Given the description of an element on the screen output the (x, y) to click on. 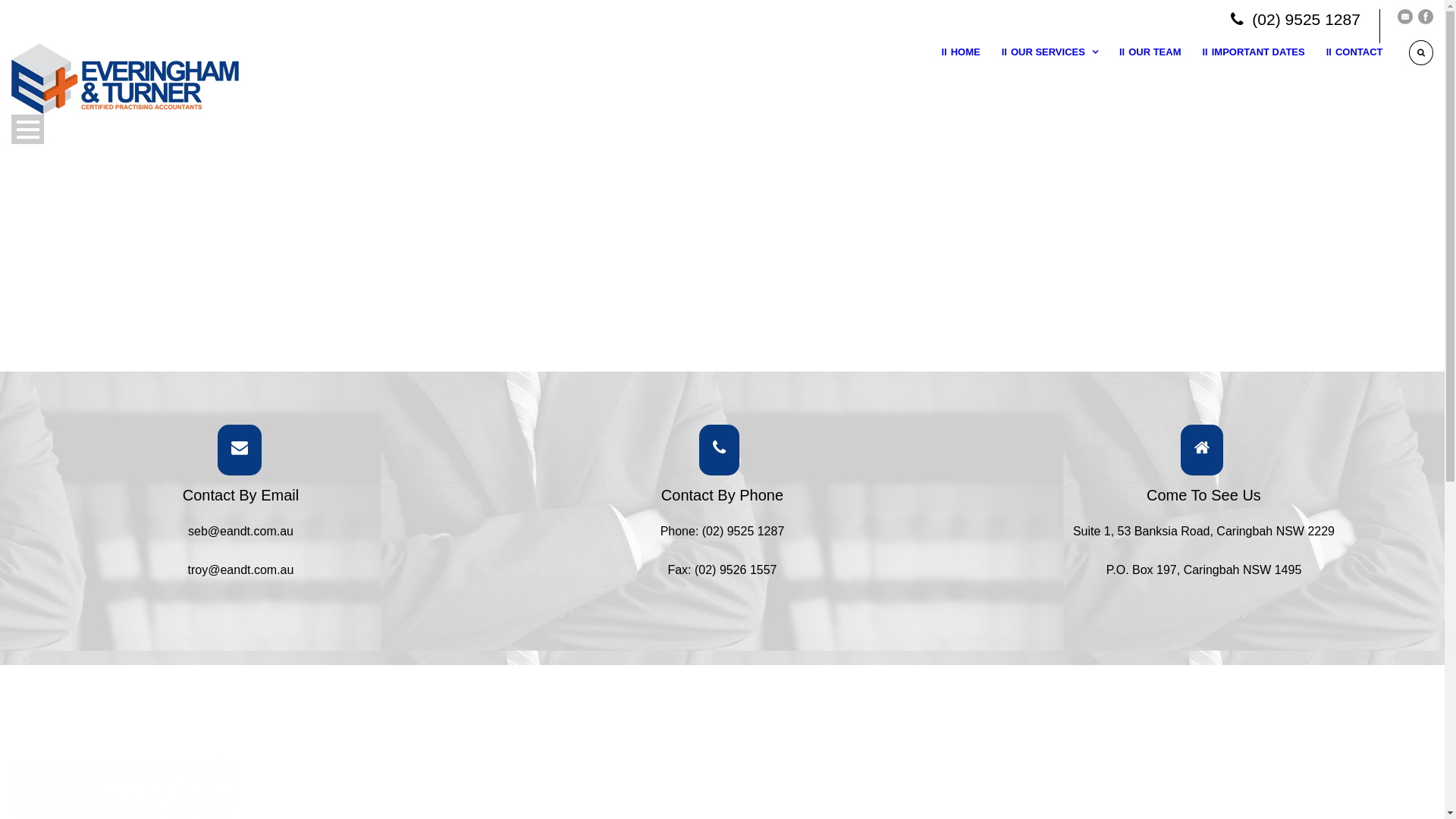
HOME Element type: text (960, 70)
OUR TEAM Element type: text (1139, 70)
Open Menu Element type: text (27, 129)
CONTACT Element type: text (1344, 70)
OUR SERVICES Element type: text (1039, 70)
IMPORTANT DATES Element type: text (1242, 70)
